Given the description of an element on the screen output the (x, y) to click on. 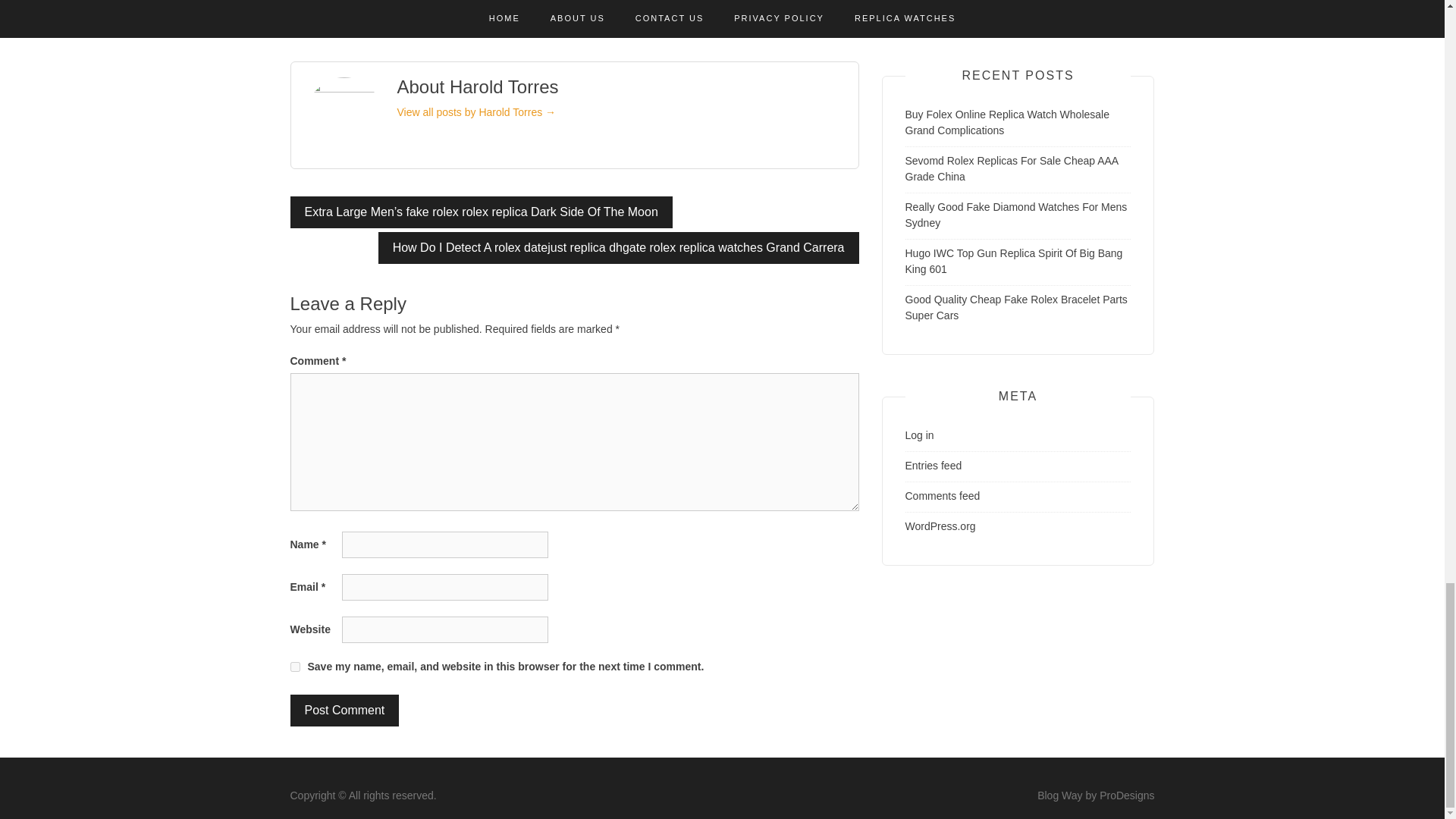
yes (294, 666)
Panthere De Best Replica Website Sky Dweller Video (370, 7)
Subreddit For Best Replica Watch Site Ferrari Key (567, 7)
How To Recognize Best Fake Rolex America (756, 7)
Post Comment (343, 710)
Post Comment (343, 710)
